Given the description of an element on the screen output the (x, y) to click on. 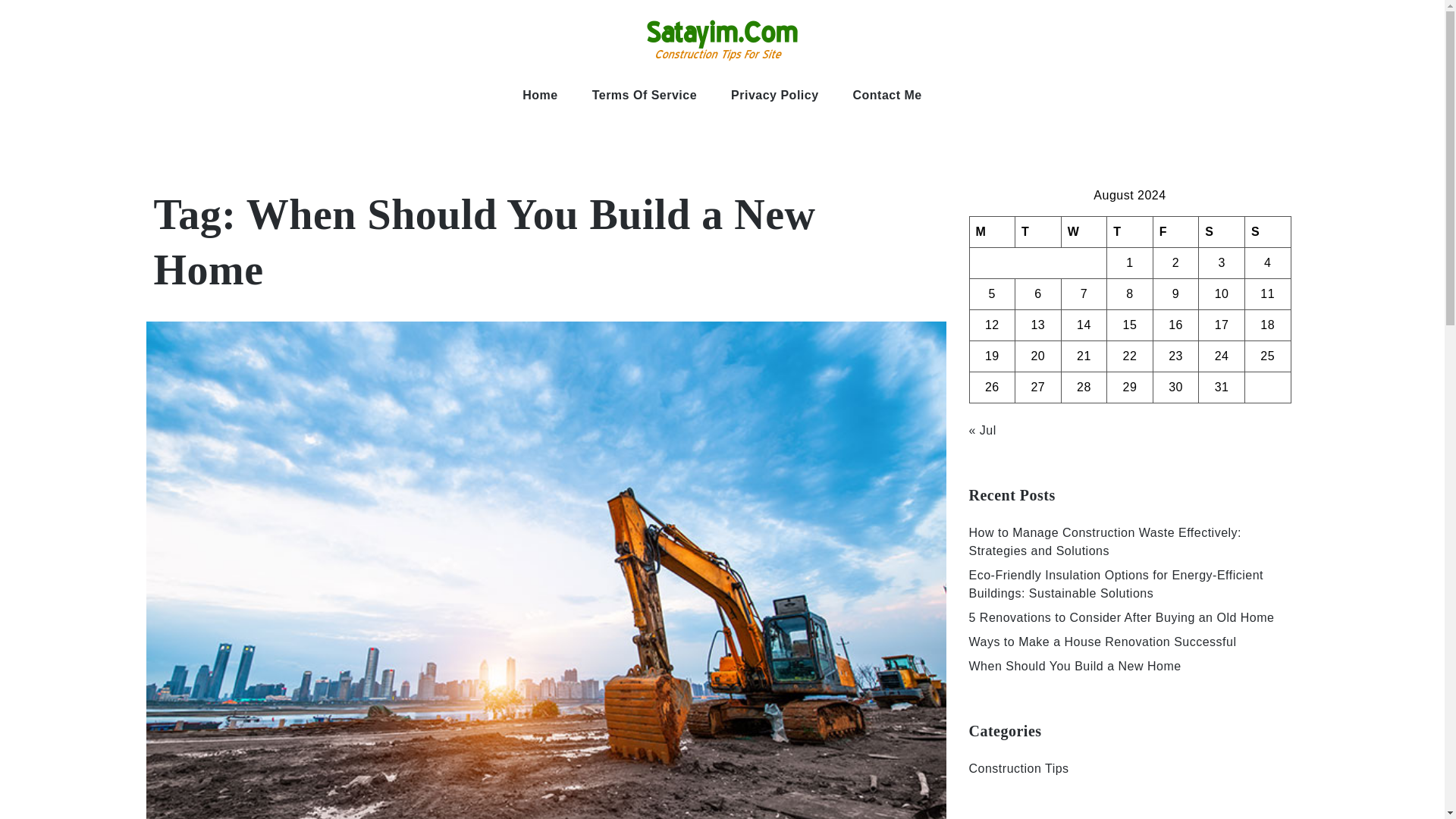
Monday (991, 232)
Saturday (1221, 232)
Terms Of Service (643, 95)
Sunday (1267, 232)
Contact Me (887, 95)
5 Renovations to Consider After Buying an Old Home (1122, 617)
When Should You Build a New Home (1074, 666)
Friday (1175, 232)
Thursday (1129, 232)
Tuesday (1037, 232)
Privacy Policy (775, 95)
Ways to Make a House Renovation Successful (1102, 641)
